Given the description of an element on the screen output the (x, y) to click on. 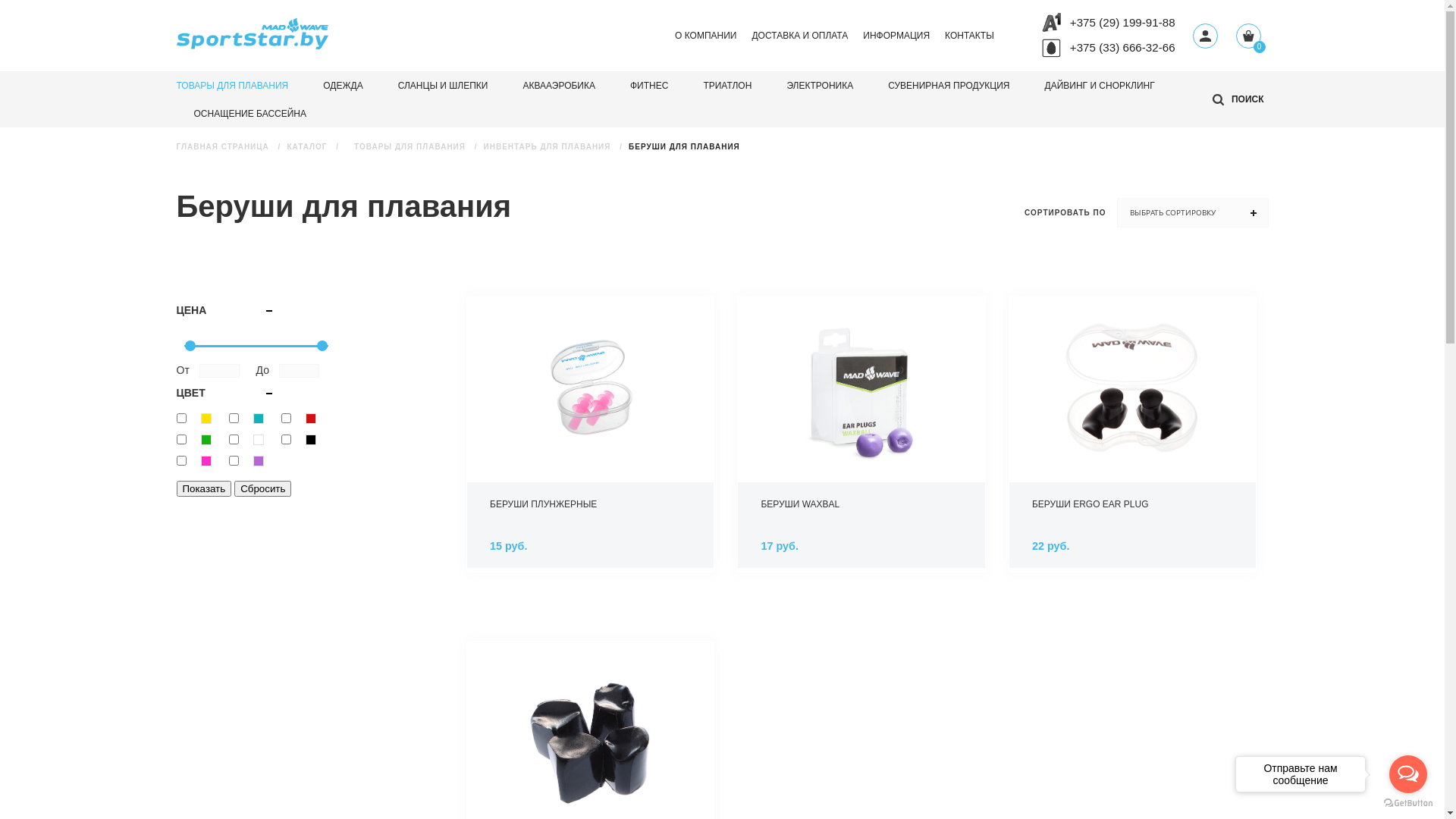
Y Element type: text (286, 439)
+375 (33) 666-32-66 Element type: text (1122, 47)
Y Element type: text (233, 418)
Y Element type: text (233, 460)
Y Element type: text (180, 439)
Y Element type: text (286, 418)
+375 (29) 199-91-88 Element type: text (1122, 22)
Y Element type: text (180, 418)
0 Element type: text (1247, 37)
Y Element type: text (180, 460)
Y Element type: text (233, 439)
